Given the description of an element on the screen output the (x, y) to click on. 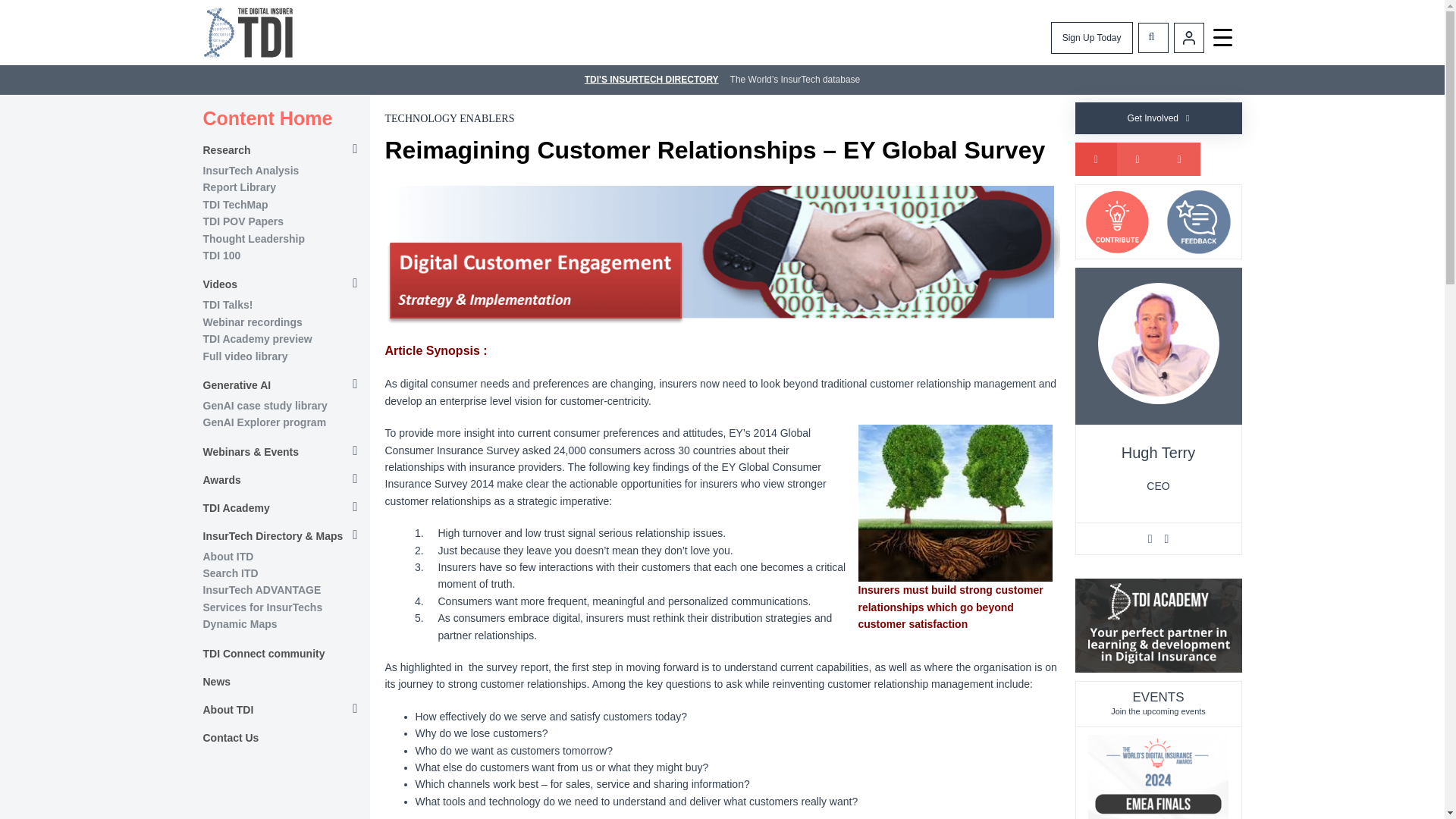
TDI Academy preview (258, 338)
The Digital Insurer (248, 32)
Content Home (286, 117)
Generative AI (283, 385)
Videos (283, 283)
Report Library (239, 186)
InsurTech Analysis (251, 170)
Thought Leadership (254, 238)
TDI TechMap (235, 204)
Full video library (245, 356)
TDI POV Papers (243, 221)
TDI Talks! (228, 304)
TDI 100 (222, 255)
Webinar recordings (252, 322)
Sign Up Today (1091, 38)
